Given the description of an element on the screen output the (x, y) to click on. 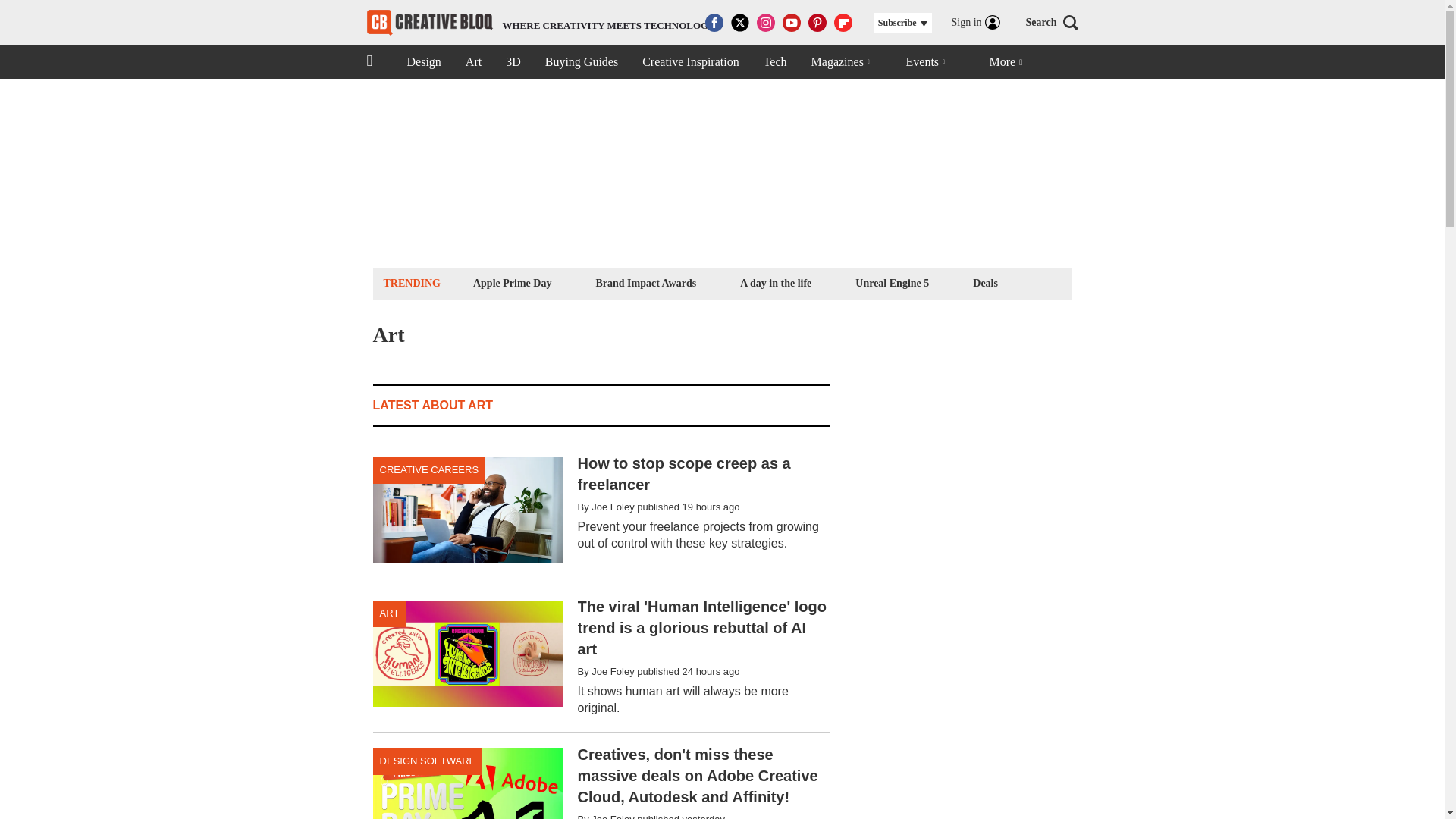
Buying Guides (581, 61)
Art (472, 61)
Tech (775, 61)
A day in the life (775, 282)
ART (389, 613)
CREATIVE CAREERS (541, 22)
Deals (429, 470)
Design (985, 282)
Creative Inspiration (423, 61)
3D (690, 61)
Apple Prime Day (512, 61)
Brand Impact Awards (511, 282)
Creative Bloq (645, 282)
